Given the description of an element on the screen output the (x, y) to click on. 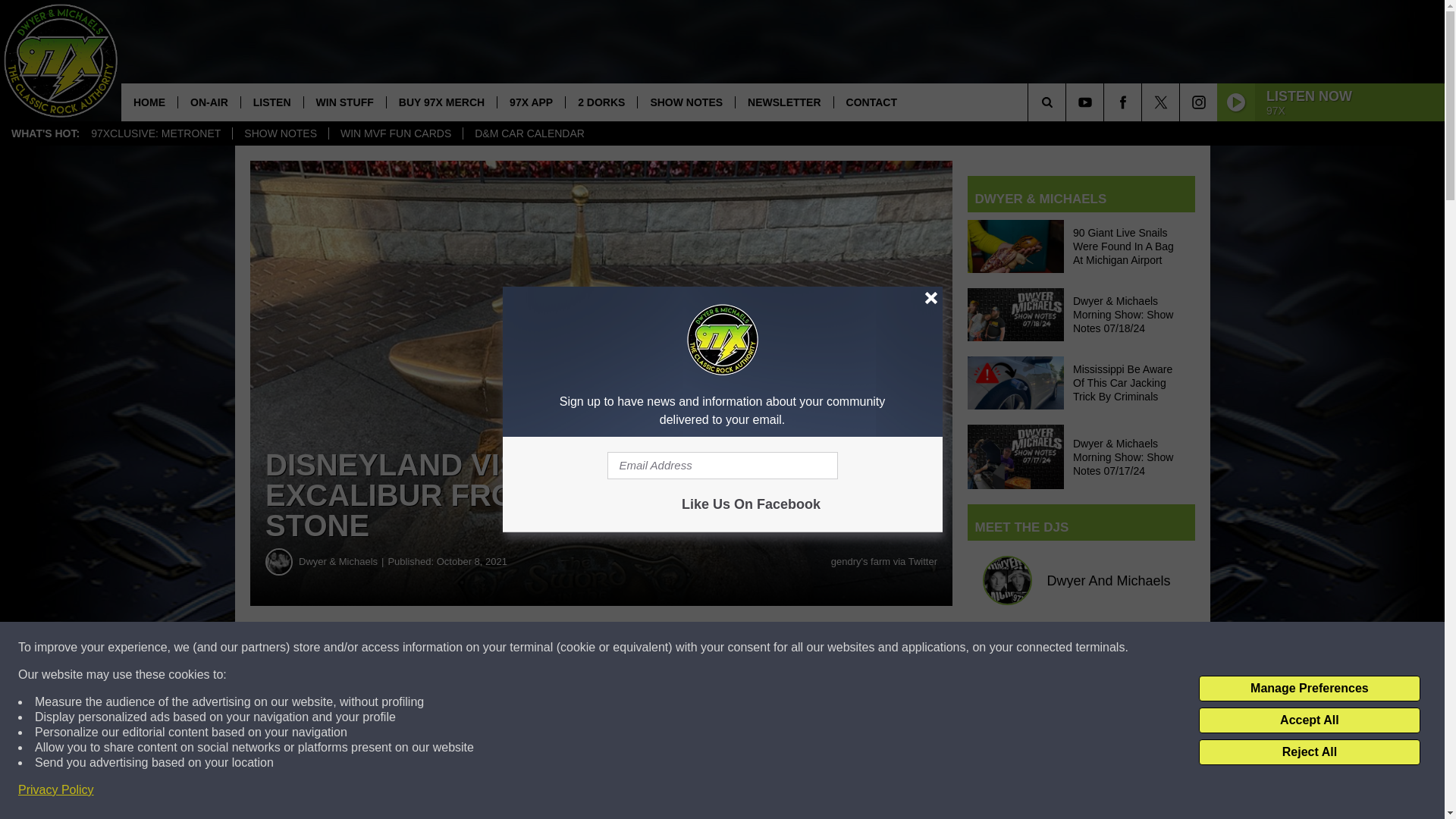
SHOW NOTES (686, 102)
SEARCH (1068, 102)
97XCLUSIVE: METRONET (155, 133)
97X APP (530, 102)
Email Address (722, 465)
2 DORKS (600, 102)
NEWSLETTER (783, 102)
WIN MVF FUN CARDS (396, 133)
WIN STUFF (343, 102)
Reject All (1309, 751)
Privacy Policy (55, 789)
Manage Preferences (1309, 688)
ON-AIR (208, 102)
Share on Twitter (741, 647)
Accept All (1309, 720)
